Given the description of an element on the screen output the (x, y) to click on. 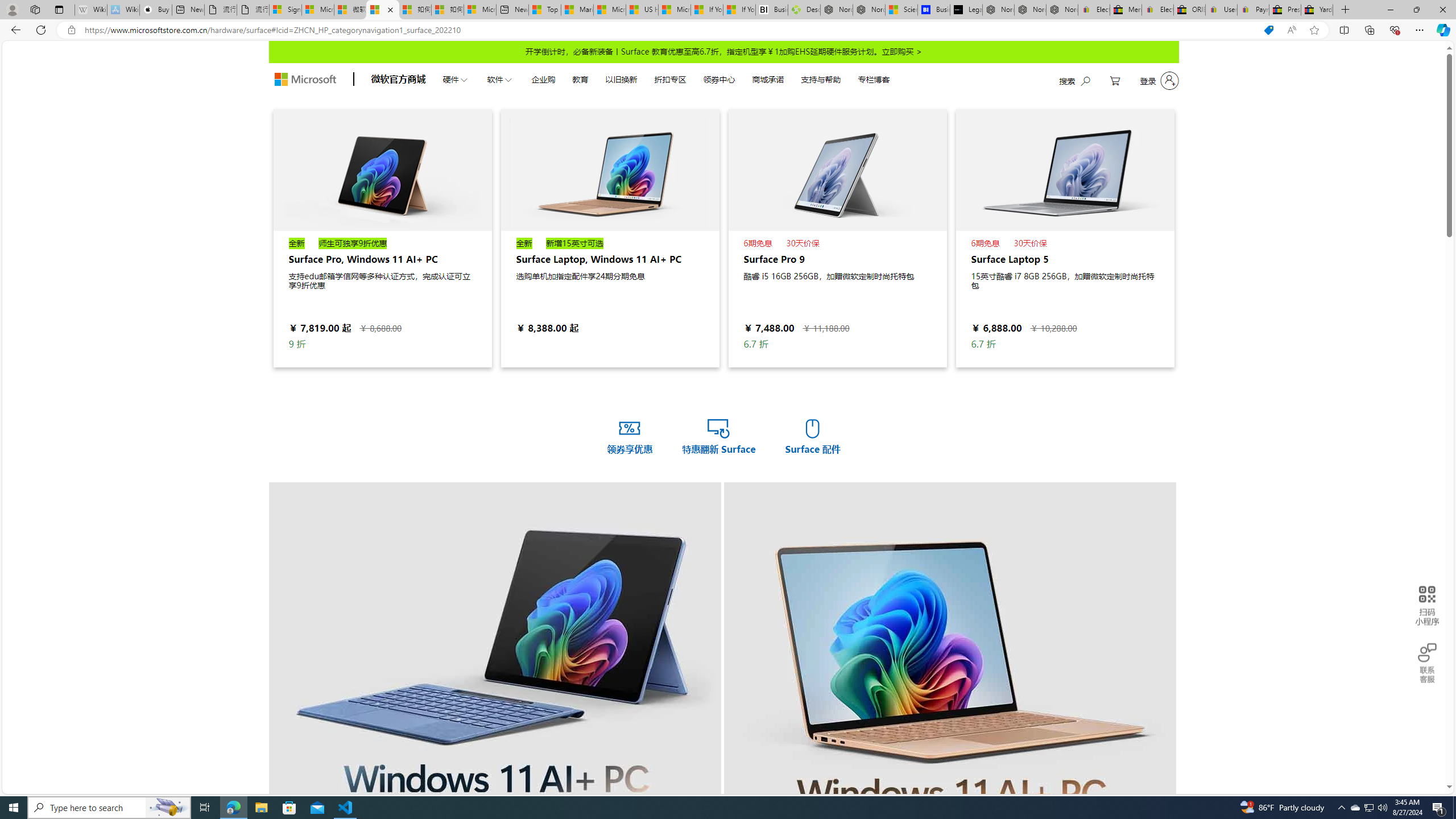
store logo (304, 79)
Personal Profile (12, 9)
Refresh (40, 29)
Surface Laptop, Windows 11 AI+ PC (609, 237)
Collections (1369, 29)
Split screen (1344, 29)
Tab actions menu (58, 9)
